Given the description of an element on the screen output the (x, y) to click on. 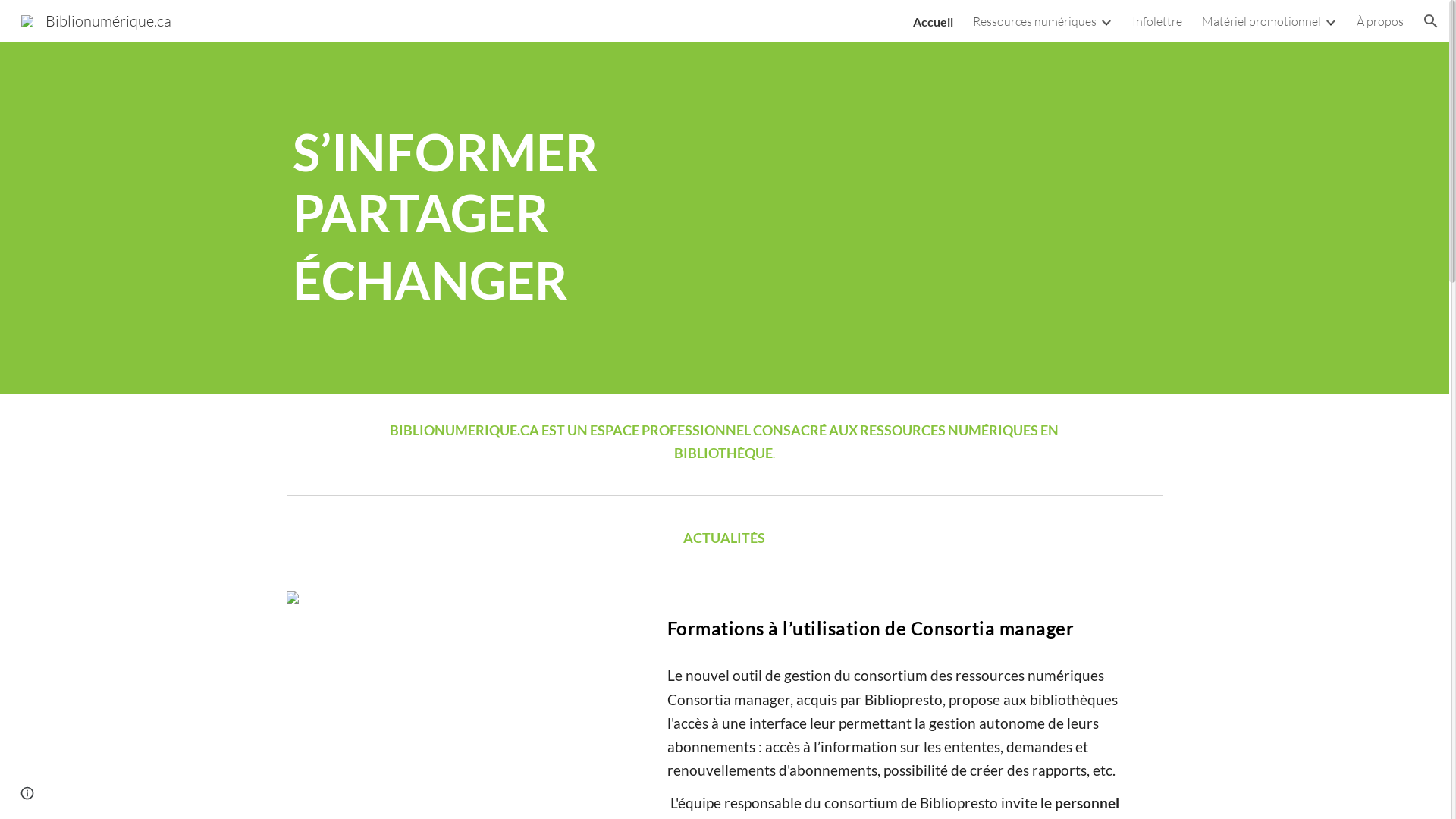
Expand/Collapse Element type: hover (1105, 20)
Infolettre Element type: text (1157, 20)
Accueil Element type: text (933, 20)
Expand/Collapse Element type: hover (1329, 20)
